Given the description of an element on the screen output the (x, y) to click on. 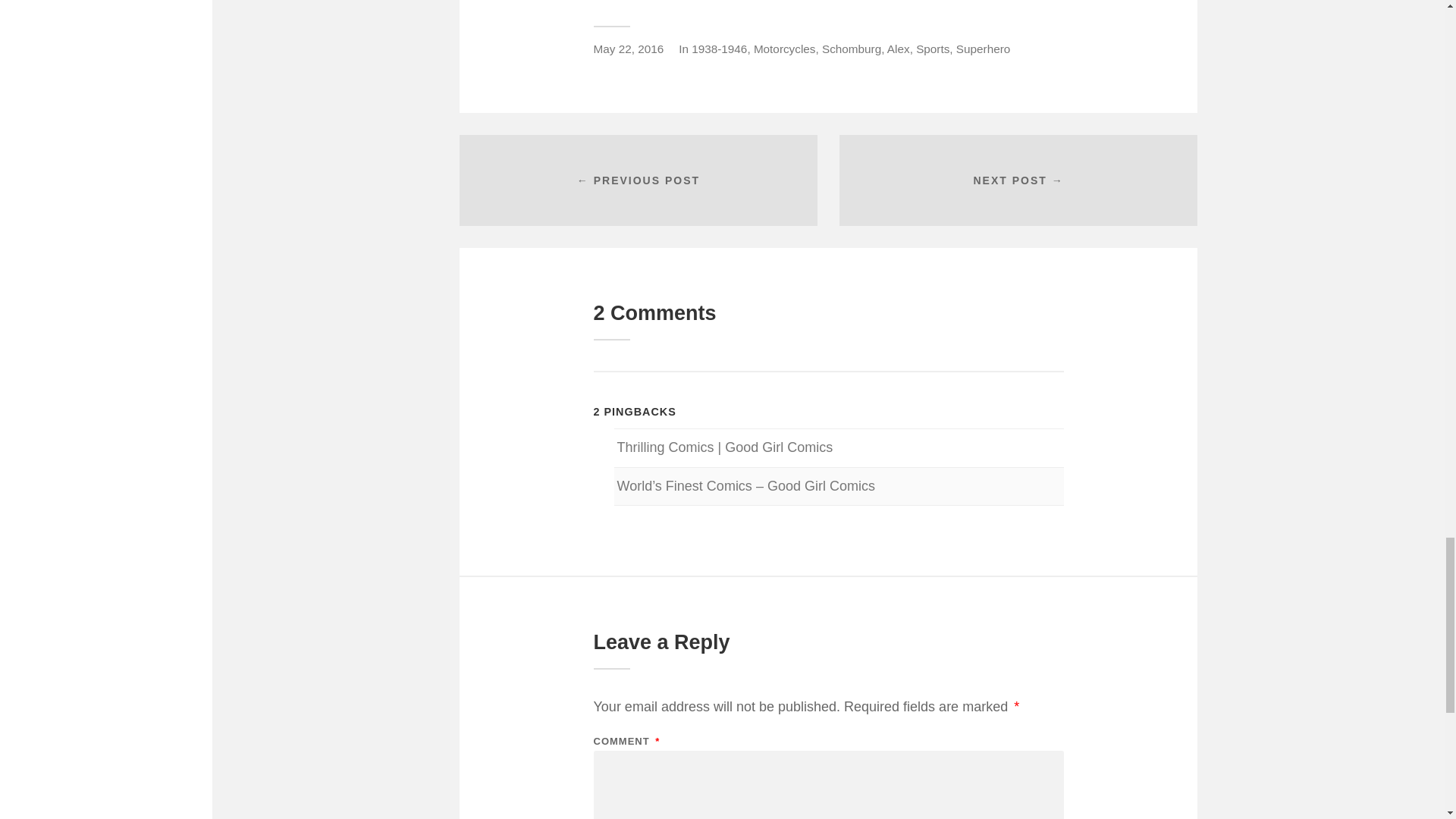
Motorcycles (784, 48)
May 22, 2016 (627, 48)
1938-1946 (718, 48)
Schomburg, Alex (866, 48)
Superhero (983, 48)
Sports (932, 48)
